Given the description of an element on the screen output the (x, y) to click on. 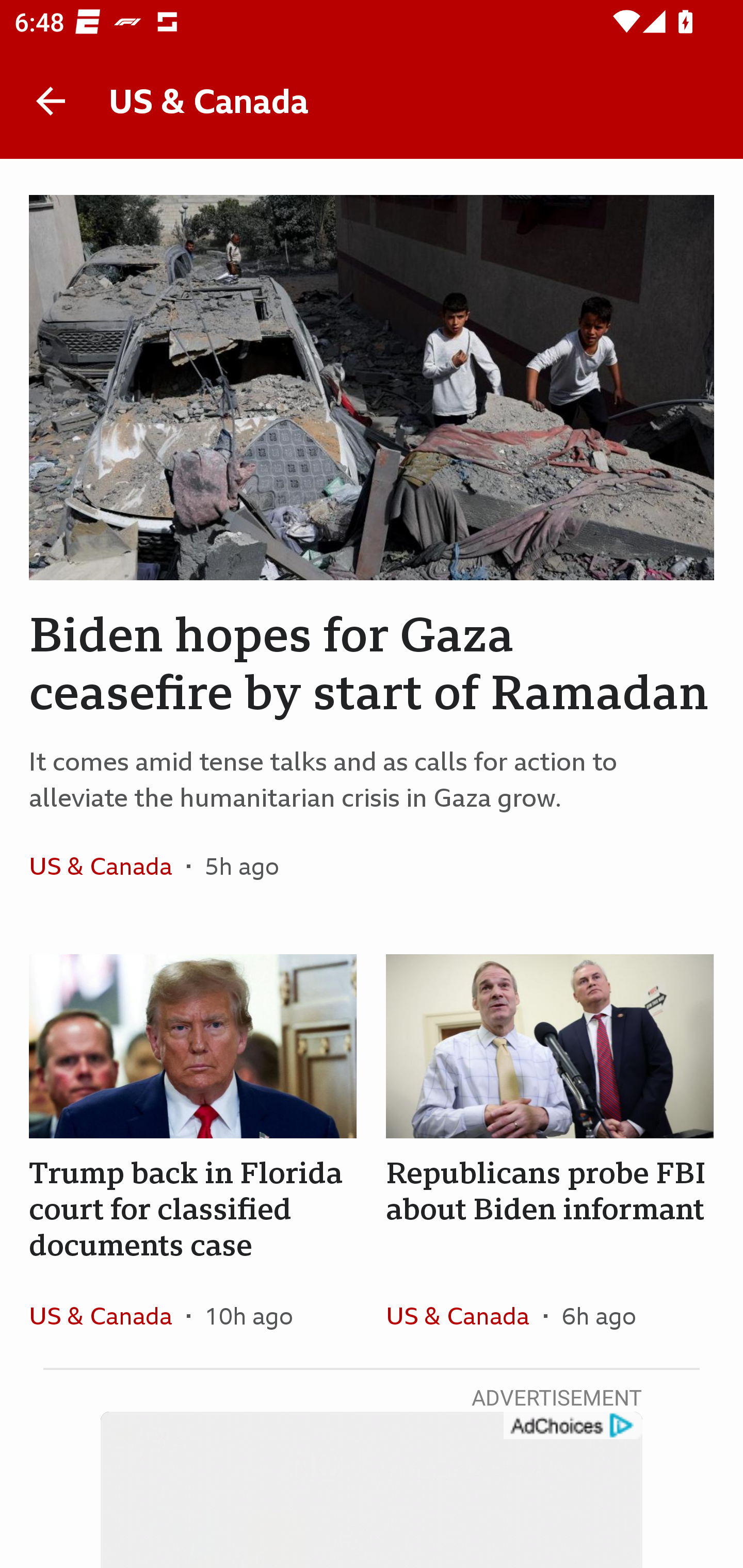
Back (50, 101)
US & Canada In the section US & Canada (107, 865)
US & Canada In the section US & Canada (107, 1315)
US & Canada In the section US & Canada (464, 1315)
Video Player get?name=admarker-full-tl   (371, 1489)
get?name=admarker-full-tl (571, 1425)
